Given the description of an element on the screen output the (x, y) to click on. 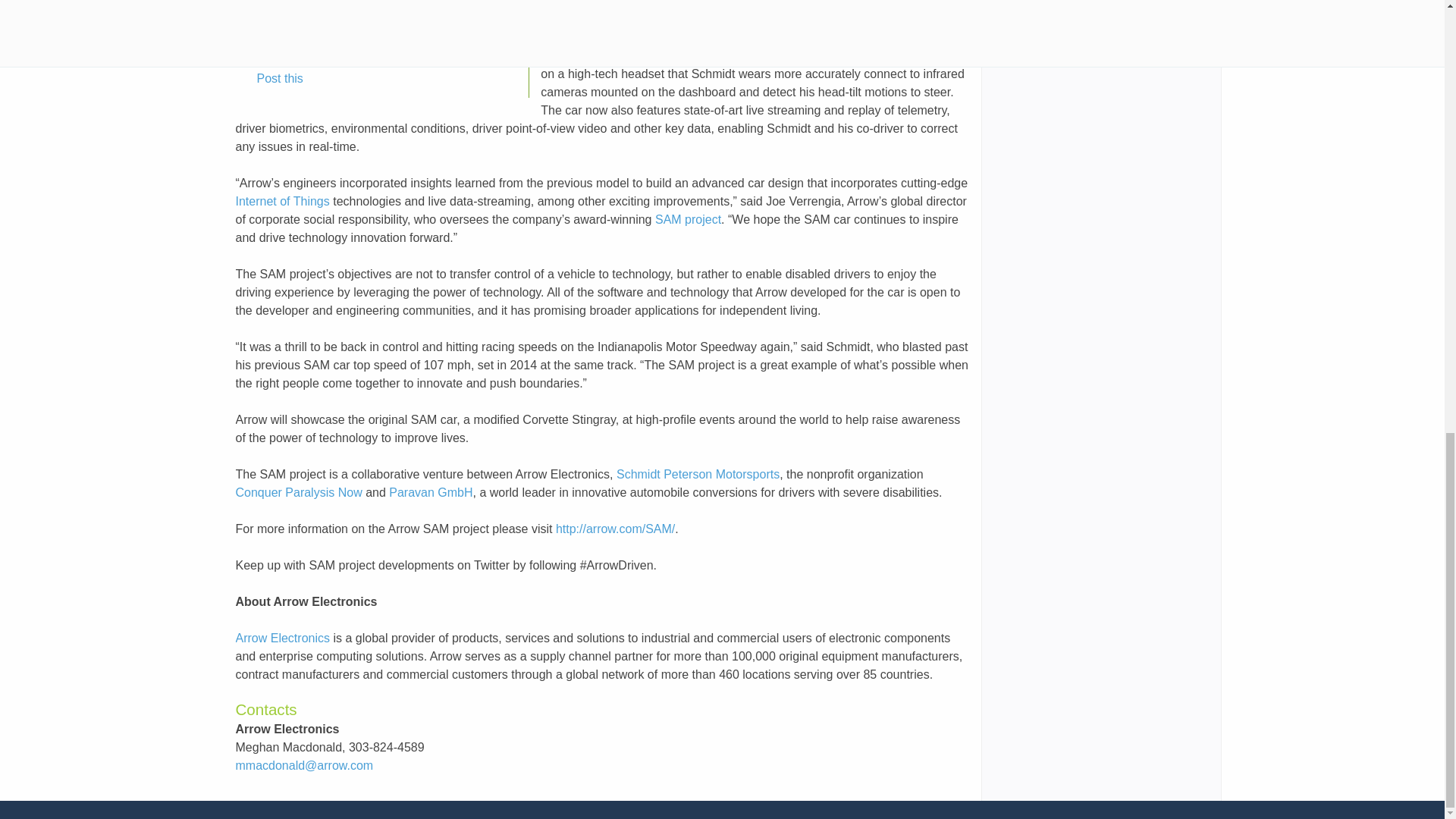
Arrow Electronics (281, 637)
Conquer Paralysis Now (297, 492)
Internet of Things (281, 201)
Post this (269, 78)
Paravan GmbH (429, 492)
SAM project (687, 219)
Schmidt Peterson Motorsports (696, 473)
